Given the description of an element on the screen output the (x, y) to click on. 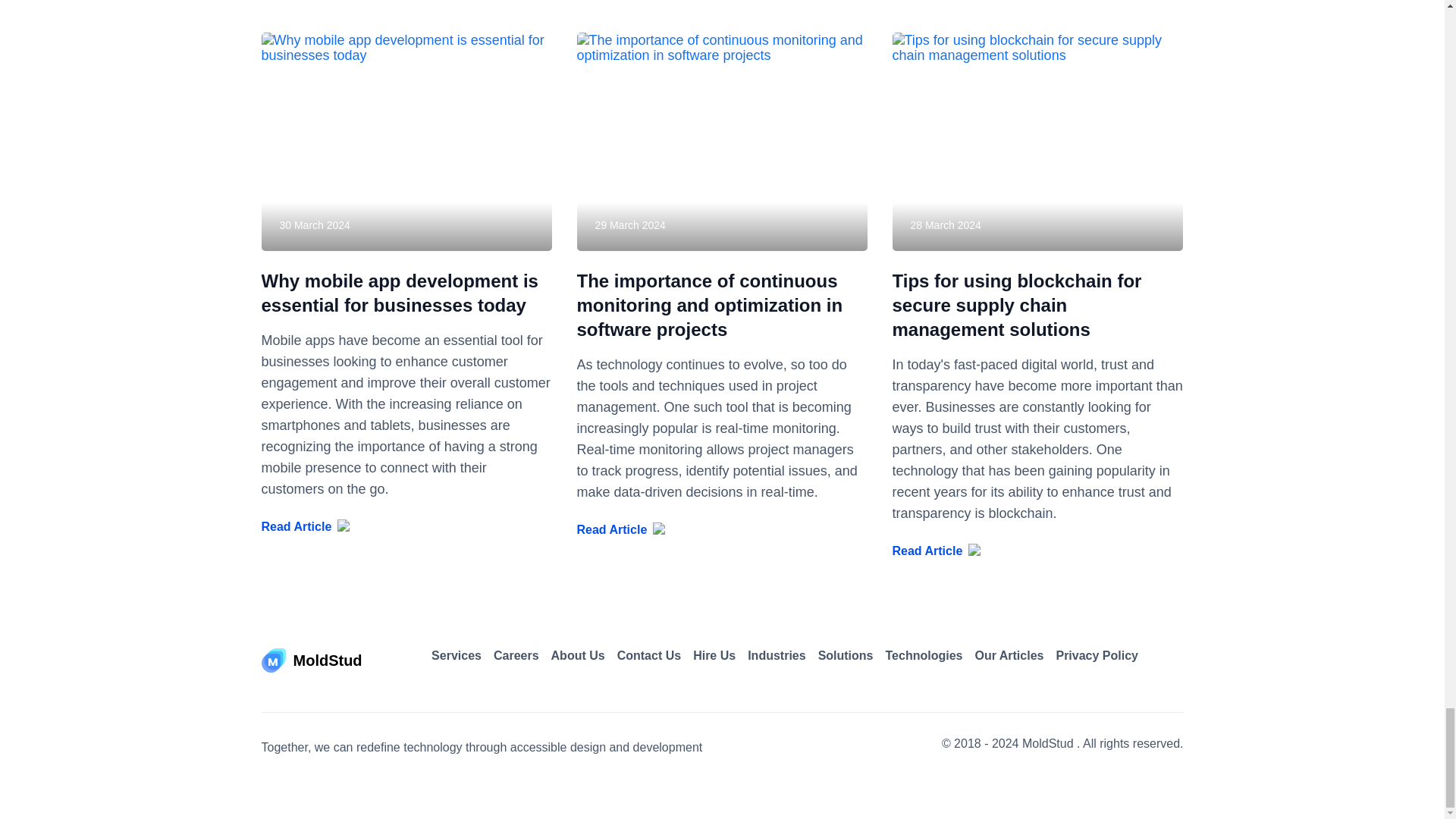
Solutions (845, 656)
Why mobile app development is essential for businesses today (398, 293)
Hire Us (714, 656)
MoldStud (310, 660)
Privacy Policy (1096, 656)
Contact Us (649, 656)
Solutions (845, 656)
Industries (776, 656)
Read Article (1036, 551)
Read Article (721, 529)
Careers (515, 656)
Hire Us (714, 656)
Careers (515, 656)
Technologies (923, 656)
